Given the description of an element on the screen output the (x, y) to click on. 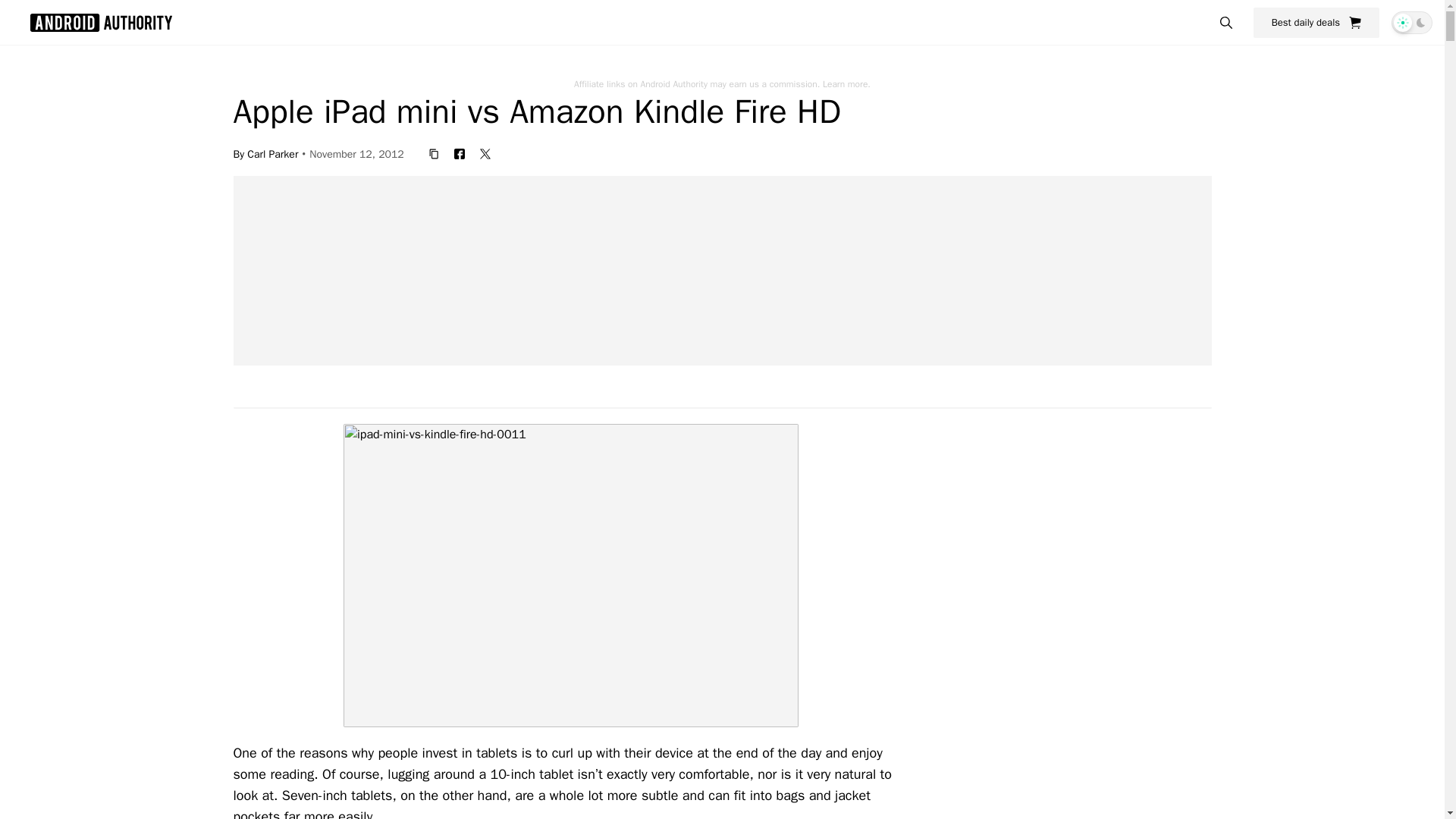
Best daily deals (1315, 22)
Learn more. (846, 83)
facebook (458, 153)
twitter (484, 153)
Carl Parker (272, 153)
